Given the description of an element on the screen output the (x, y) to click on. 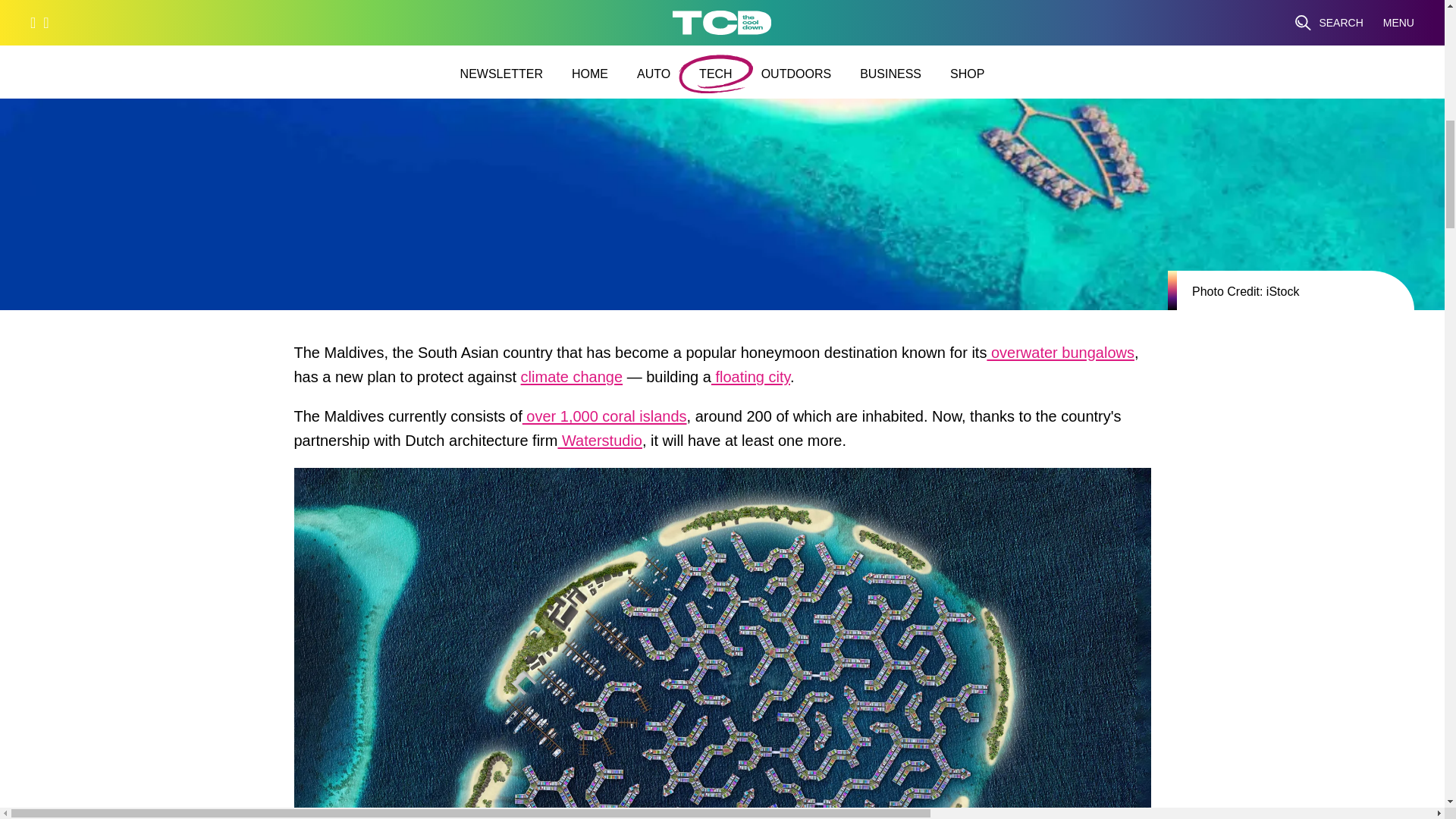
over 1,000 coral islands (604, 419)
overwater bungalows (1060, 355)
floating city (750, 380)
Waterstudio (599, 444)
climate change (572, 380)
Climate change (572, 380)
